Given the description of an element on the screen output the (x, y) to click on. 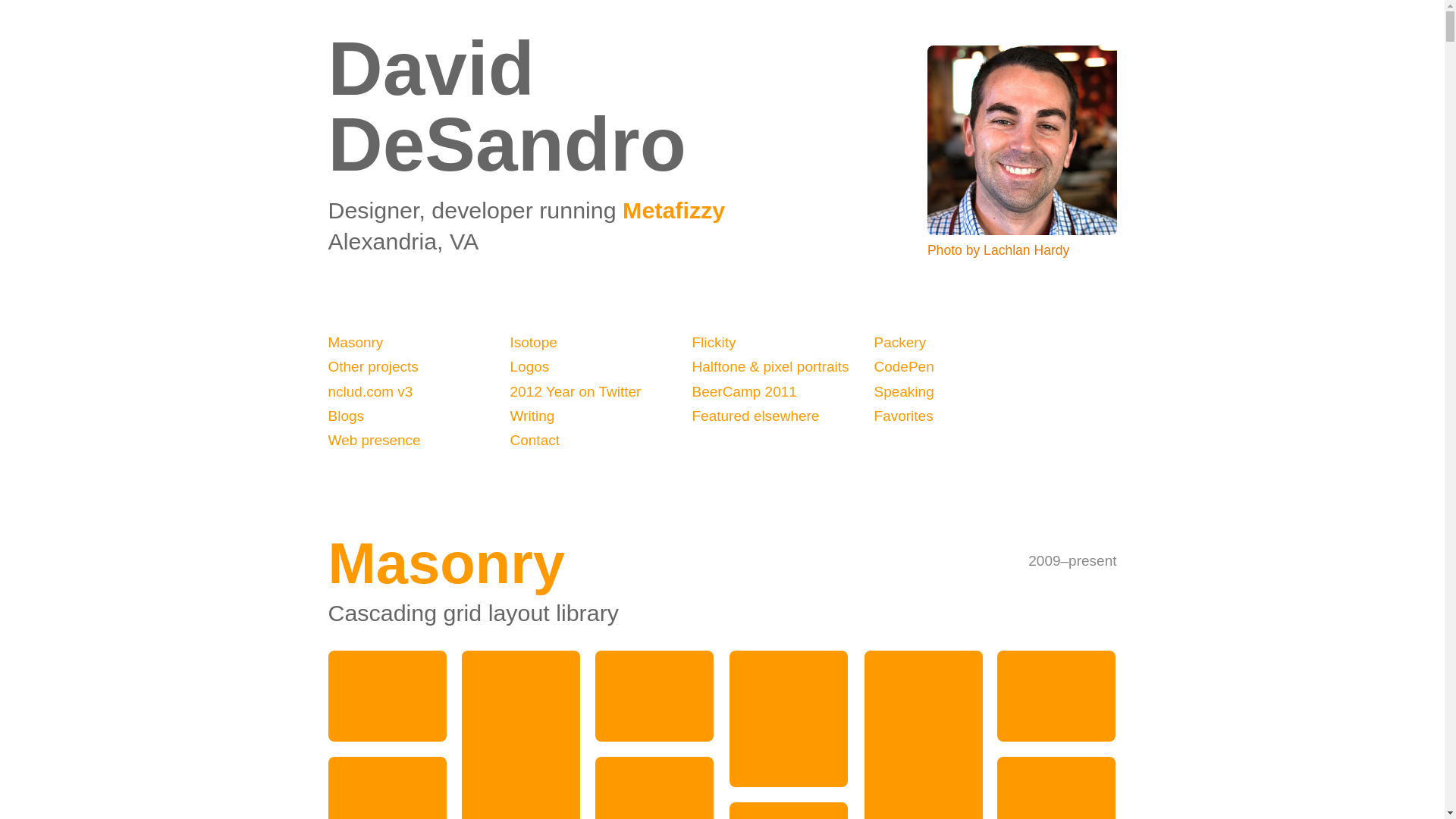
Web presence (418, 440)
Blogs (418, 416)
nclud.com v3 (418, 392)
Logos (600, 366)
Other projects (418, 366)
Favorites (964, 416)
Featured elsewhere (782, 416)
Flickity (782, 342)
CodePen (964, 366)
BeerCamp 2011 (782, 392)
2012 Year on Twitter (600, 392)
Masonry (418, 342)
Isotope (600, 342)
Packery (964, 342)
Contact (600, 440)
